Given the description of an element on the screen output the (x, y) to click on. 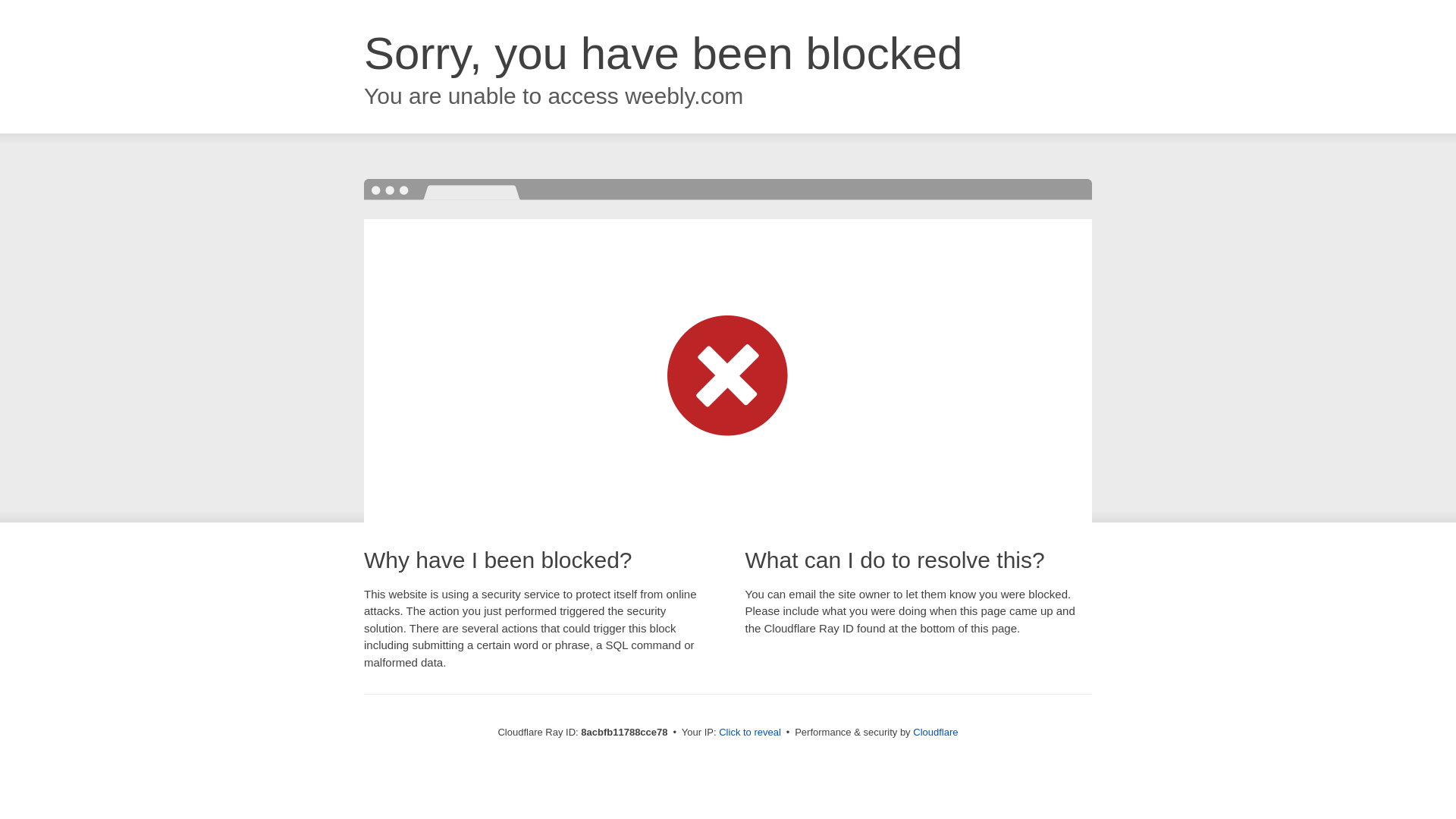
Cloudflare (935, 731)
Click to reveal (749, 732)
